Given the description of an element on the screen output the (x, y) to click on. 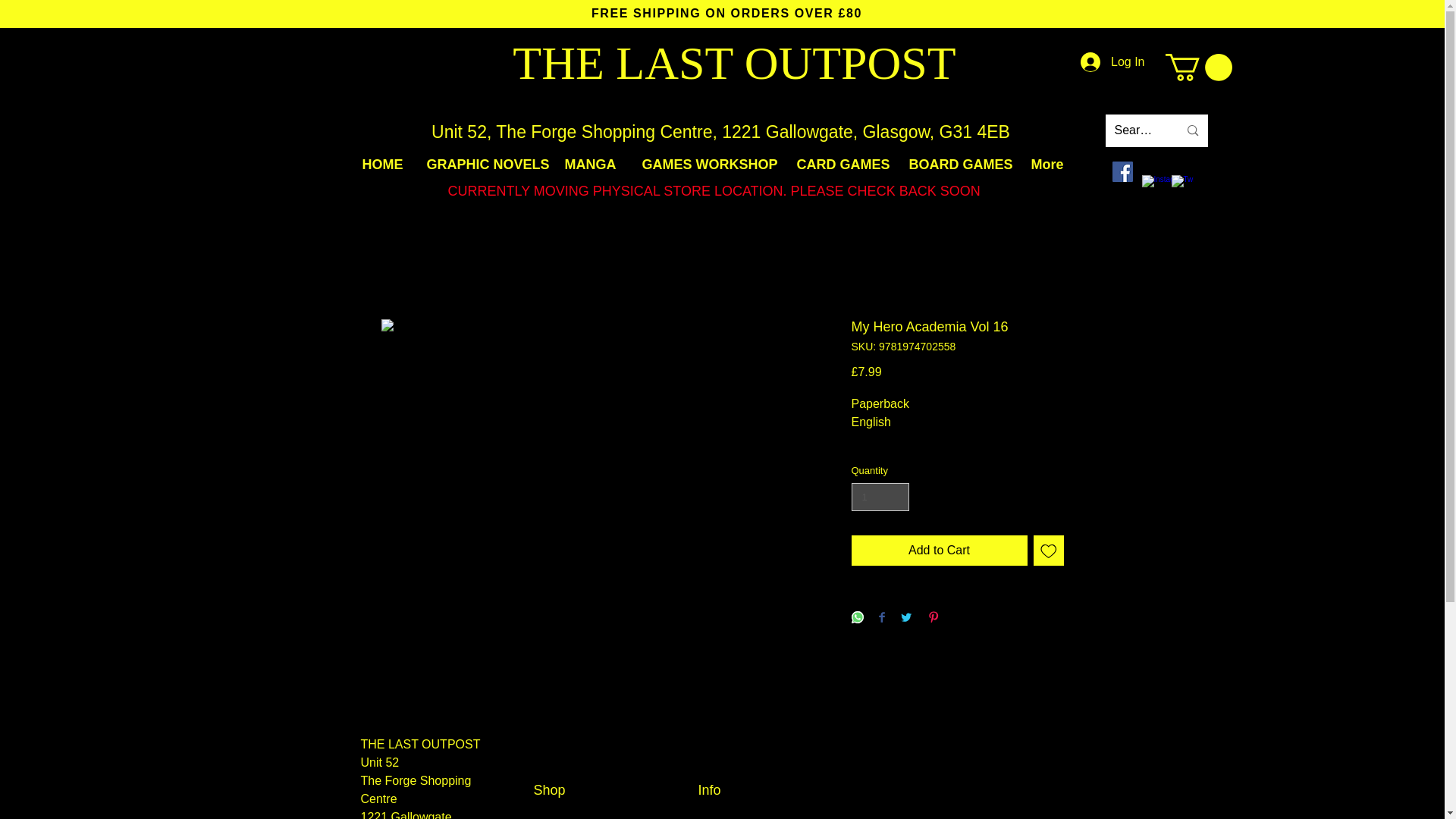
CARD GAMES (842, 164)
Log In (1112, 61)
1 (879, 497)
FREE SHIPPING ON ORDER (685, 12)
GRAPHIC NOVELS (483, 164)
GAMES WORKSHOP (708, 164)
BOARD GAMES (959, 164)
THE LAST OUTPOST (733, 62)
MANGA (591, 164)
HOME (382, 164)
